Given the description of an element on the screen output the (x, y) to click on. 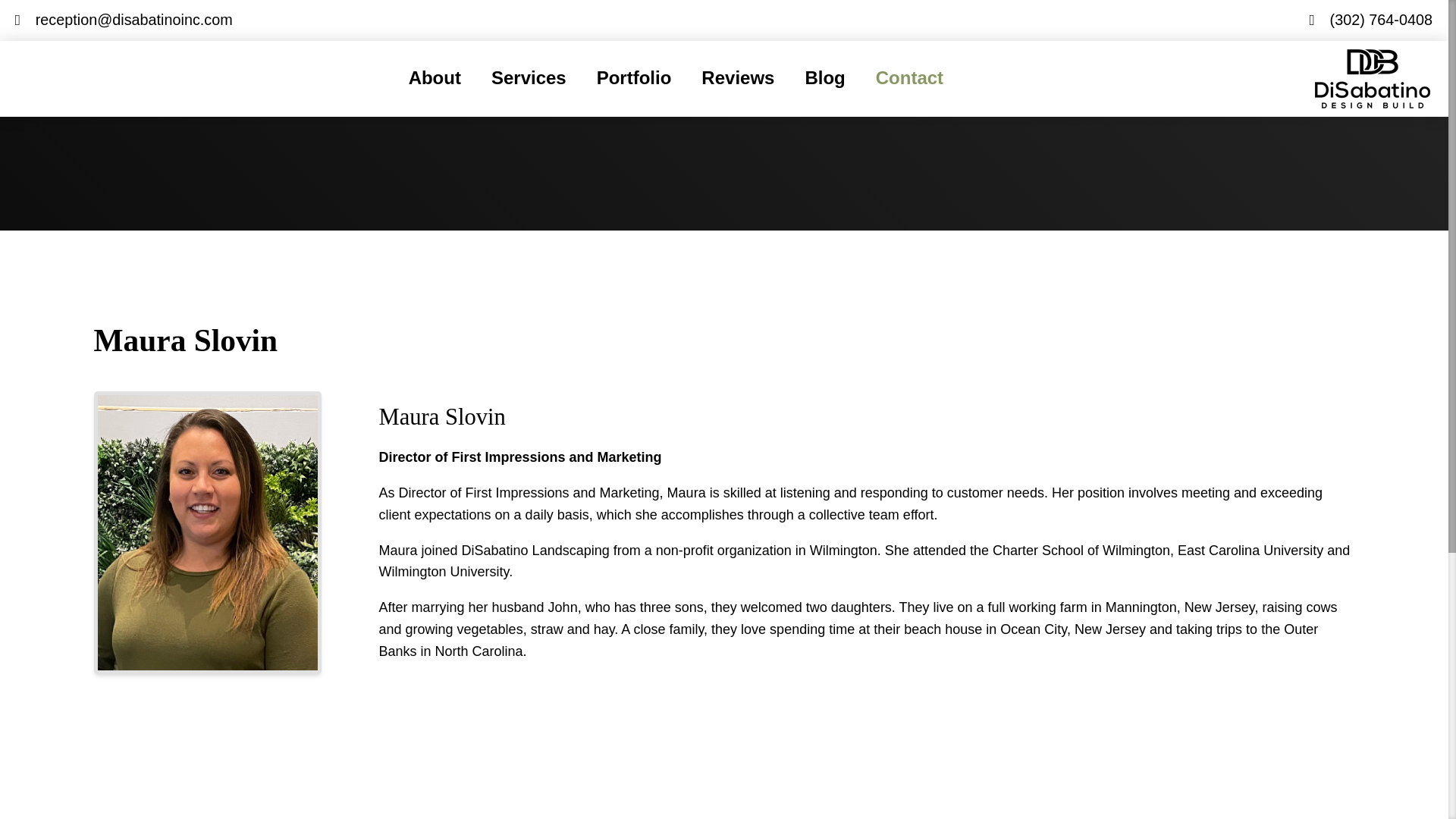
Blog (824, 78)
Reviews (737, 78)
Contact (909, 78)
Portfolio (633, 78)
DiSabatino Landscaping (139, 78)
About (434, 78)
Services (528, 78)
